Given the description of an element on the screen output the (x, y) to click on. 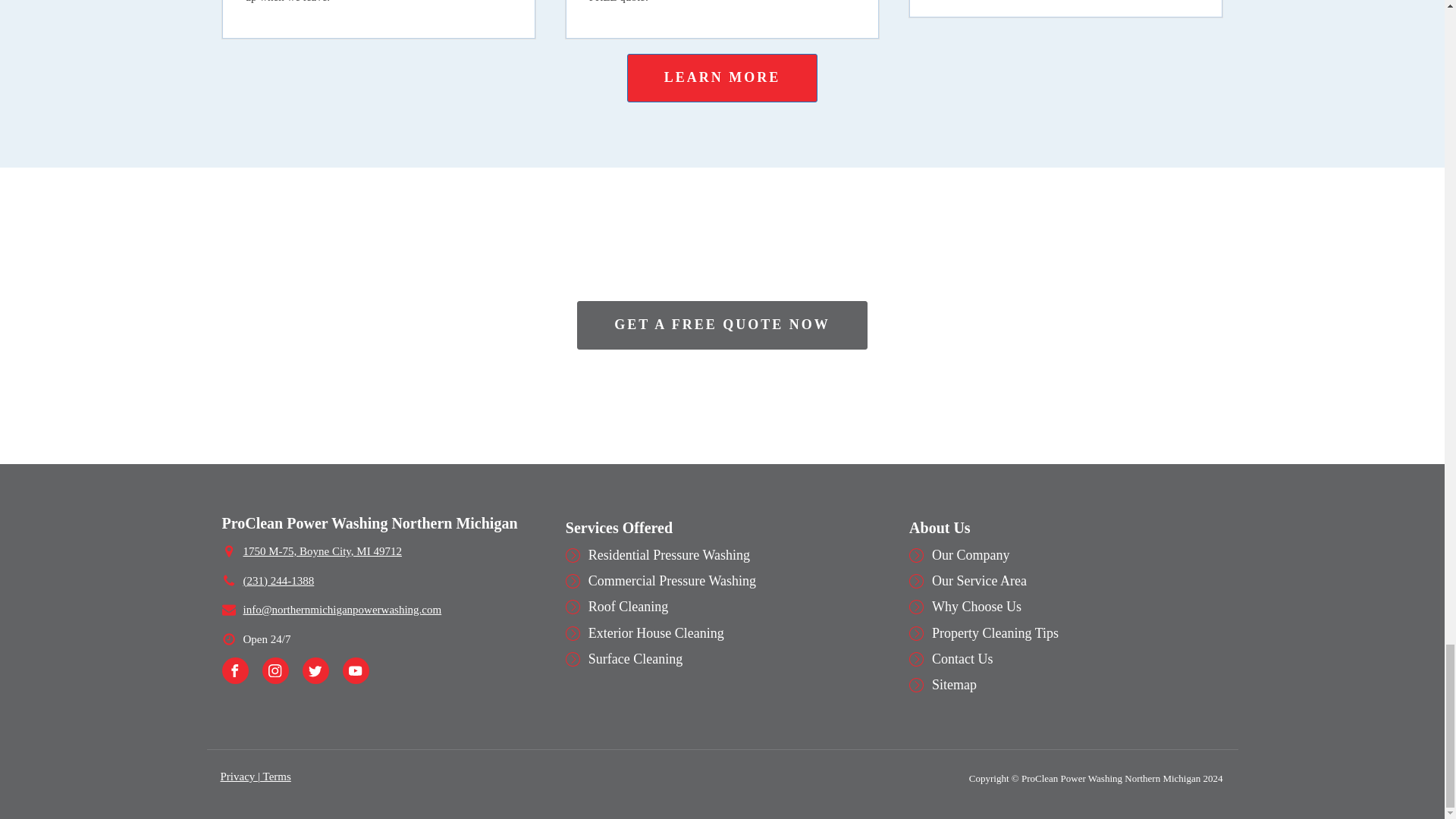
Surface Cleaning (635, 658)
Commercial Pressure Washing (671, 580)
Our Company (970, 555)
Exterior House Cleaning (655, 632)
Residential Pressure Washing (668, 555)
1750 M-75, Boyne City, MI 49712 (322, 551)
Roof Cleaning (628, 606)
LEARN MORE (722, 78)
GET A FREE QUOTE NOW (721, 325)
